Given the description of an element on the screen output the (x, y) to click on. 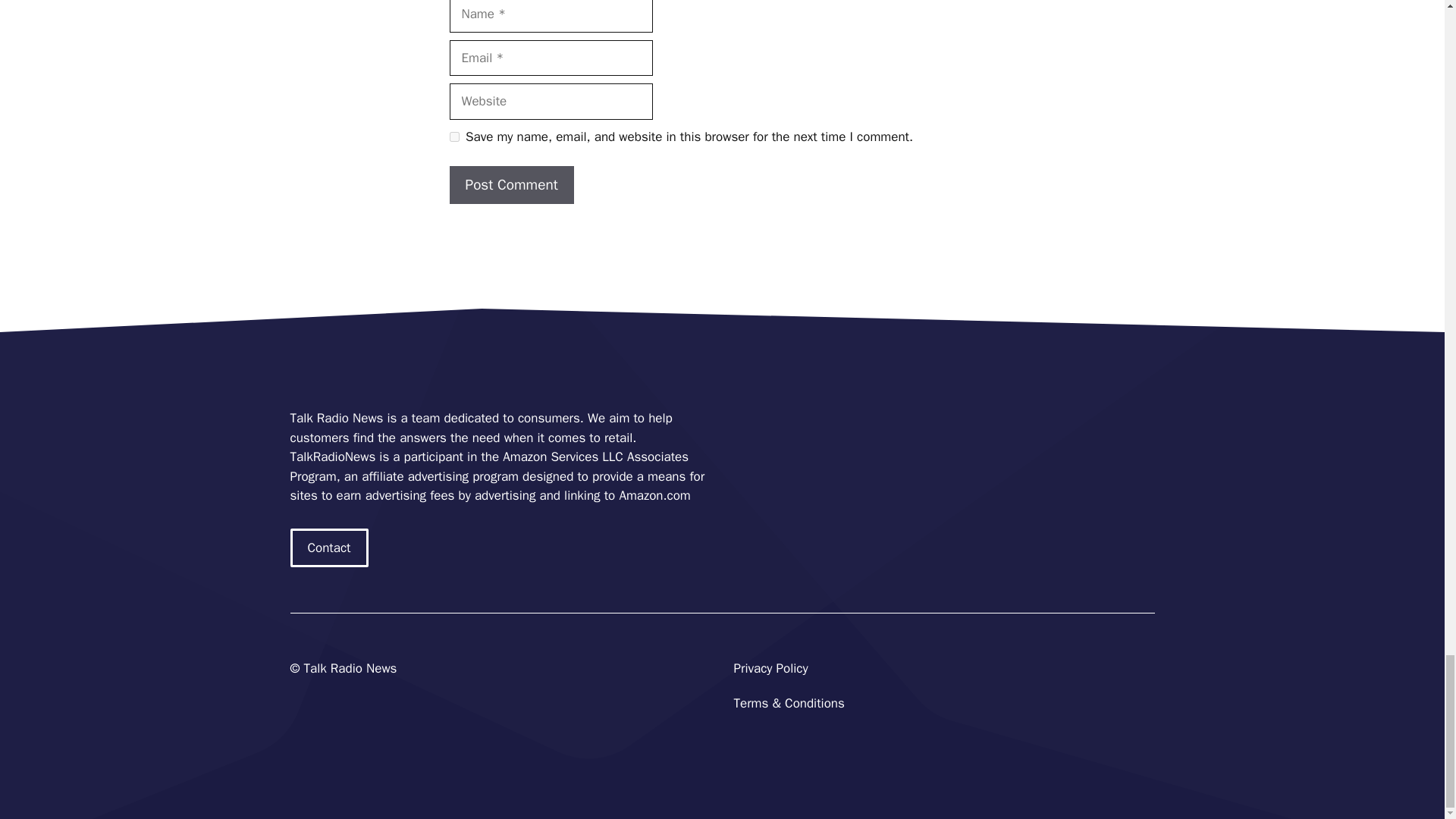
Privacy Policy (770, 668)
yes (453, 136)
Post Comment (510, 185)
Post Comment (510, 185)
Contact (328, 548)
